Given the description of an element on the screen output the (x, y) to click on. 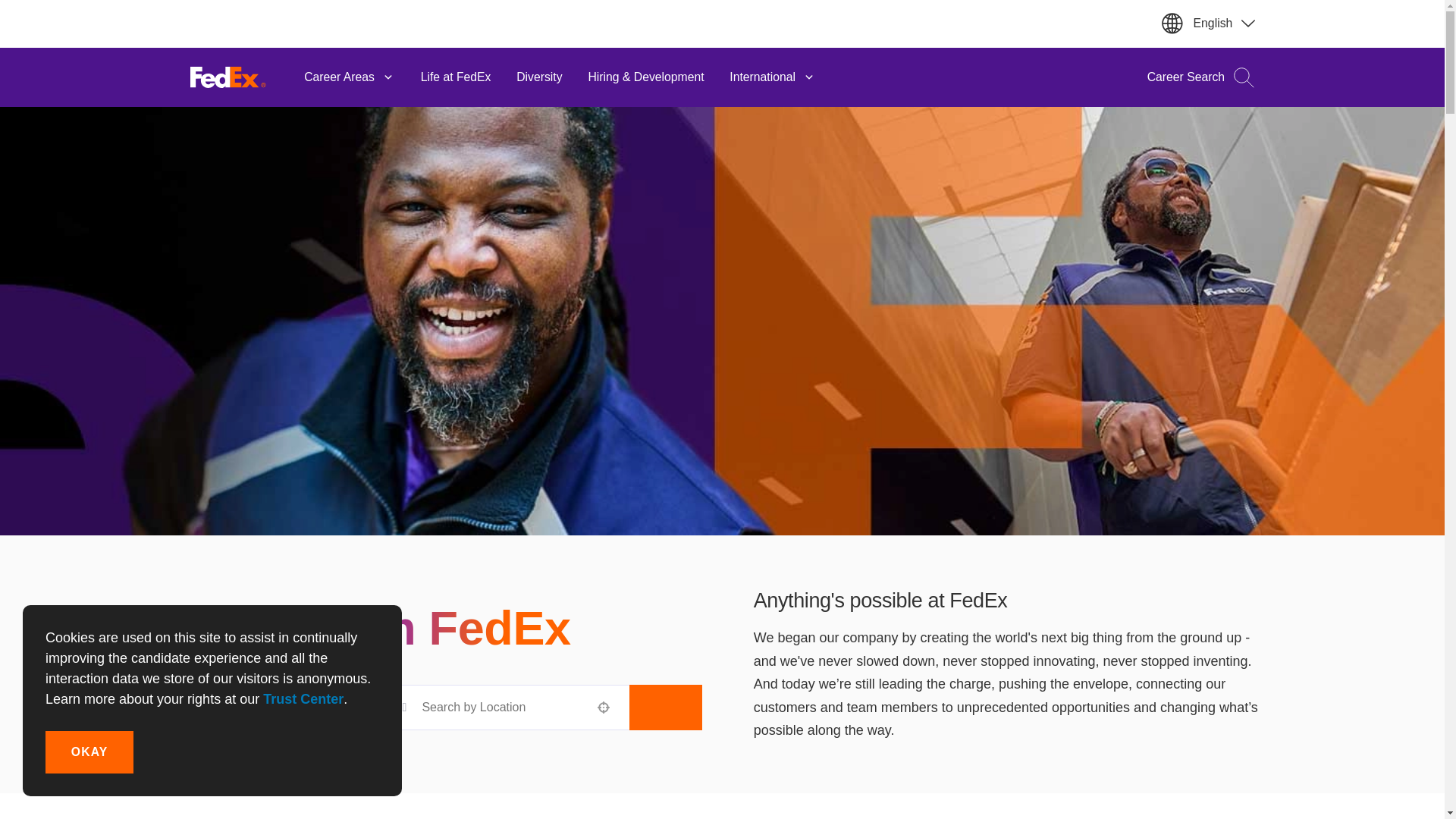
Life at FedEx (455, 76)
Use your location (603, 707)
Career Areas (349, 76)
Diversity (539, 76)
International (772, 76)
Career Search (1194, 76)
English (1224, 23)
